Given the description of an element on the screen output the (x, y) to click on. 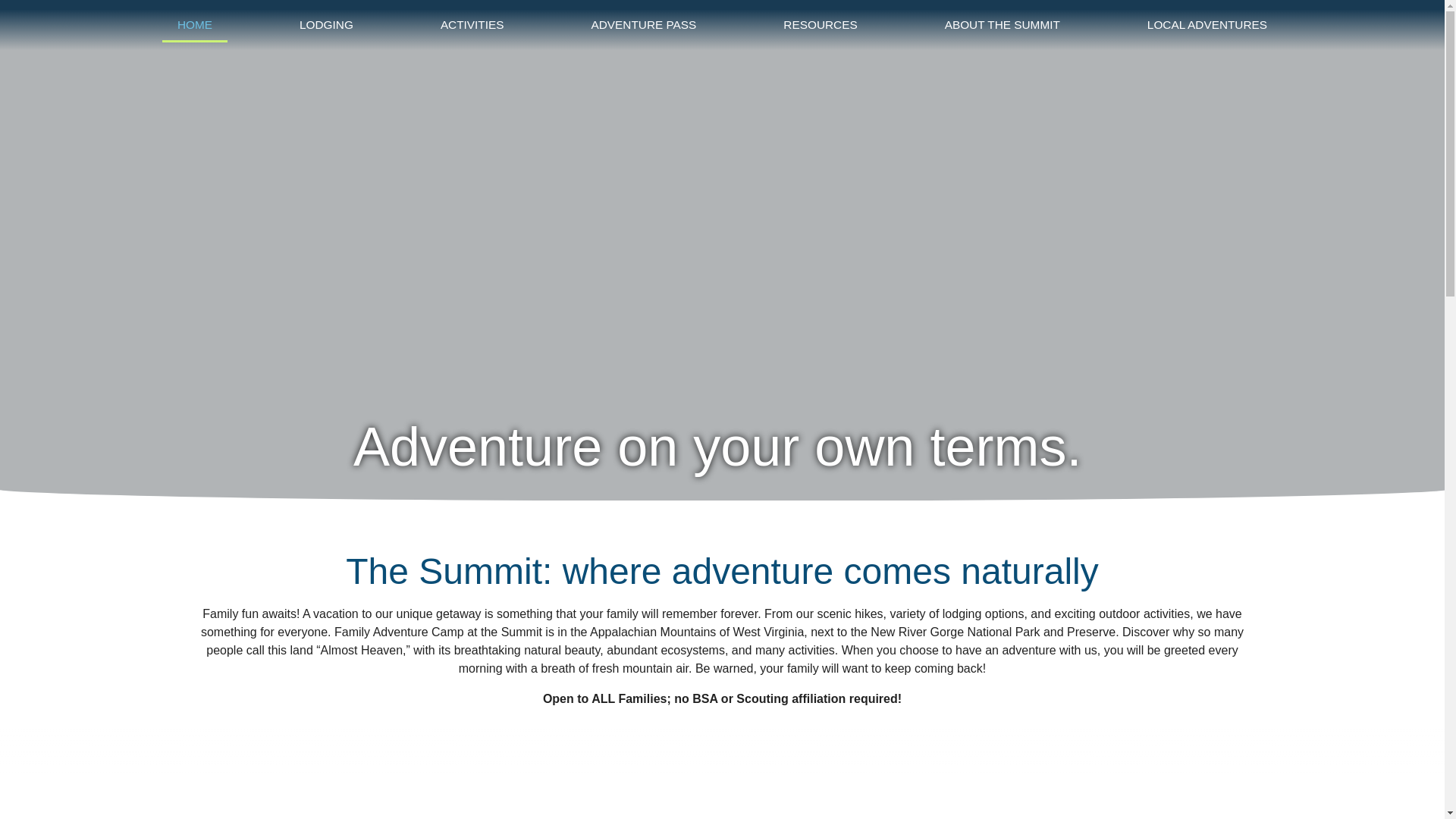
ADVENTURE PASS (643, 24)
LODGING (325, 24)
ACTIVITIES (472, 24)
HOME (194, 24)
LOCAL ADVENTURES (1207, 24)
RESOURCES (820, 24)
ABOUT THE SUMMIT (1002, 24)
